Given the description of an element on the screen output the (x, y) to click on. 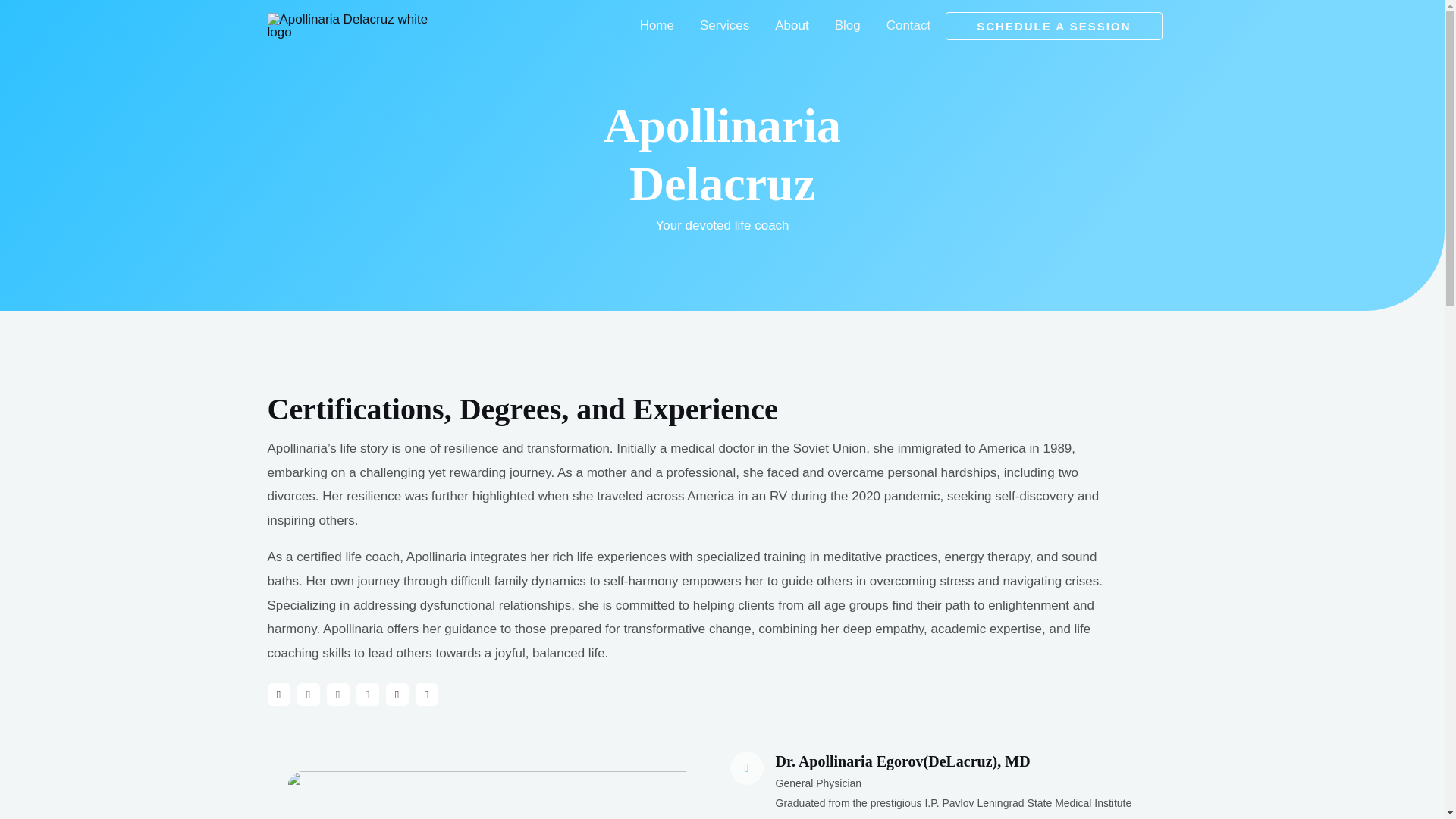
Home (657, 25)
Contact (902, 25)
Instagram (277, 694)
Services (724, 25)
SCHEDULE A SESSION (1052, 26)
Blog (847, 25)
Facebook (337, 694)
Tiktok (396, 694)
Youtube (367, 694)
Linkedin (426, 694)
